Given the description of an element on the screen output the (x, y) to click on. 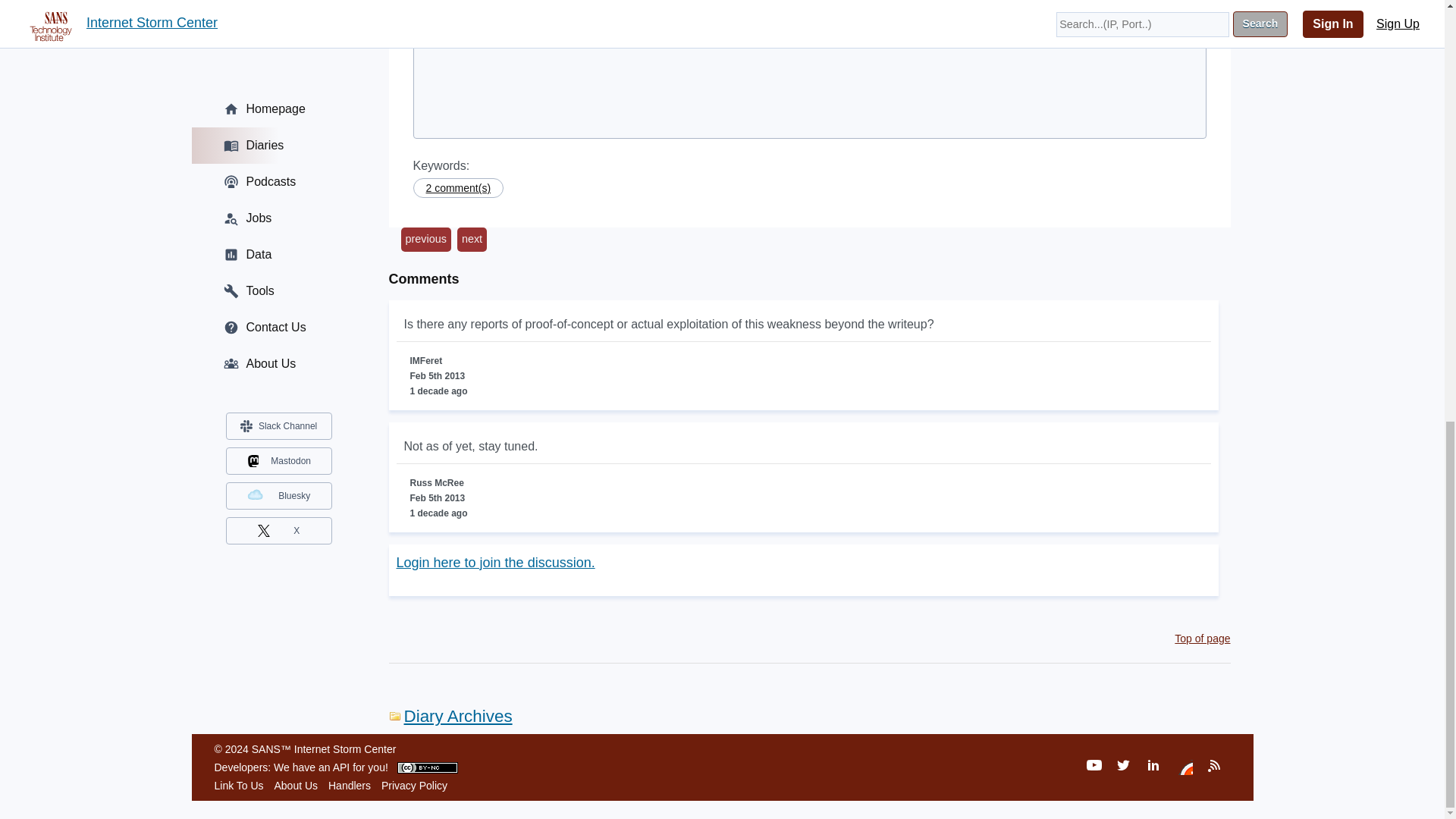
Top of page (1202, 638)
Russ McRee (459, 10)
Login here to join the discussion. (495, 562)
next (471, 239)
previous (424, 239)
Diary Archives (450, 715)
